Given the description of an element on the screen output the (x, y) to click on. 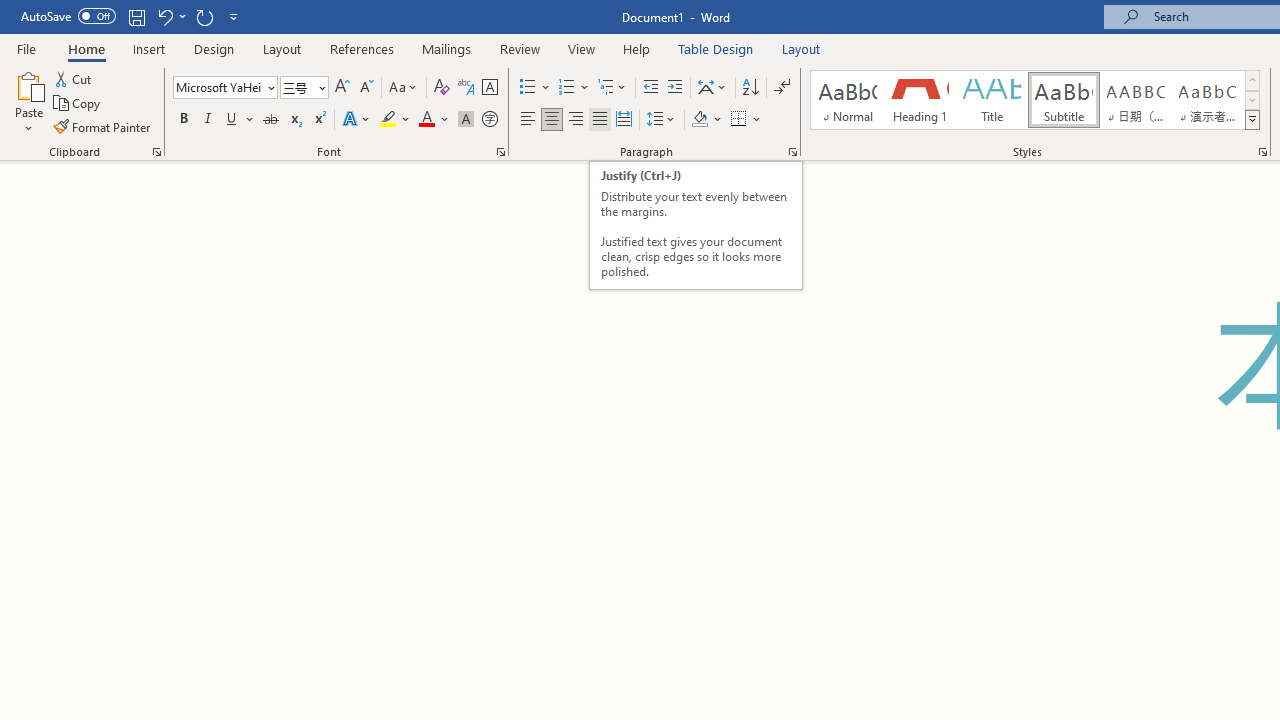
Phonetic Guide... (465, 87)
Repeat Doc Close (204, 15)
Grow Font (342, 87)
Table Design (715, 48)
Font Color Red (426, 119)
